Given the description of an element on the screen output the (x, y) to click on. 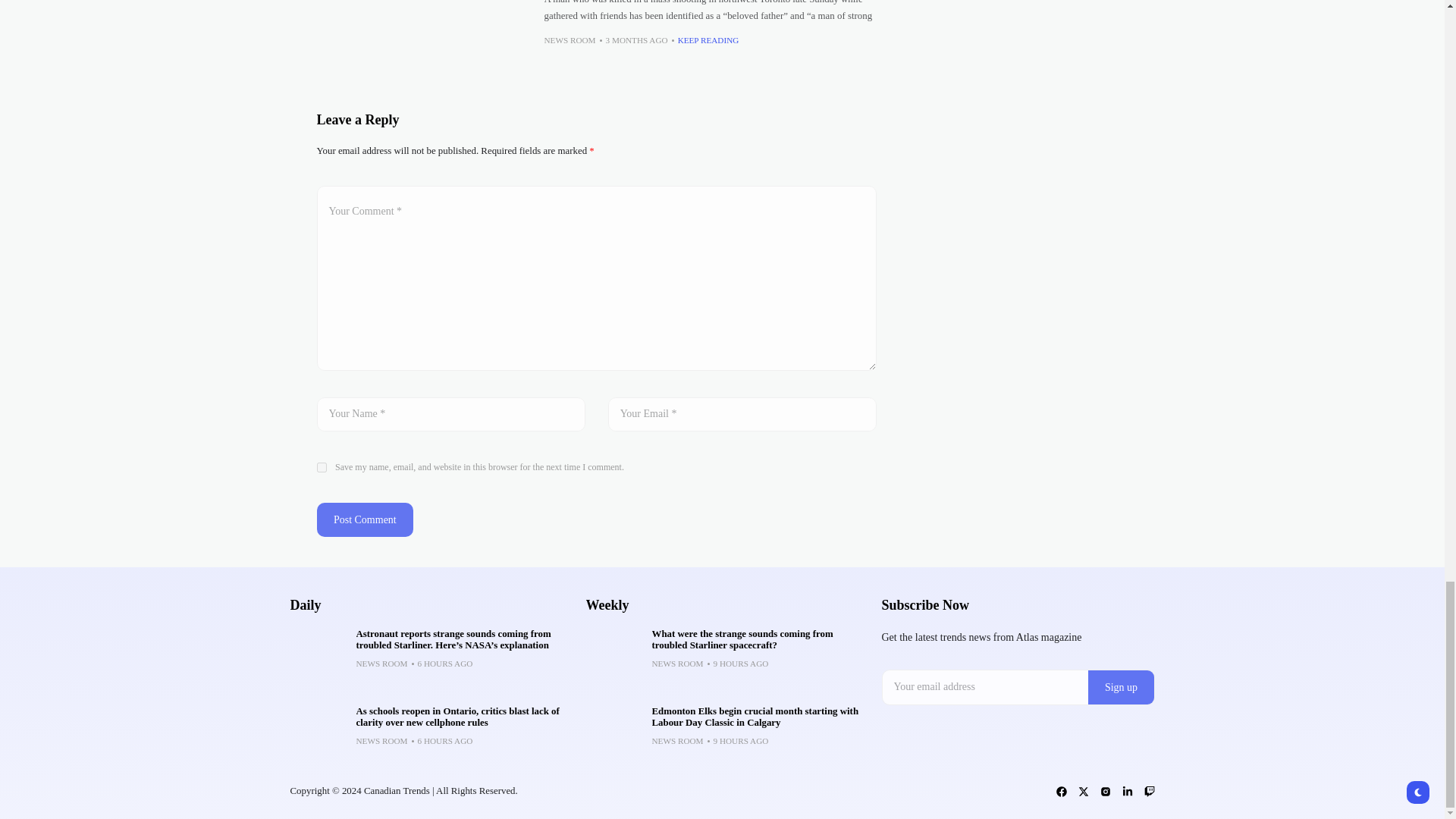
Sign up (1120, 687)
yes (321, 467)
Post Comment (365, 519)
